Given the description of an element on the screen output the (x, y) to click on. 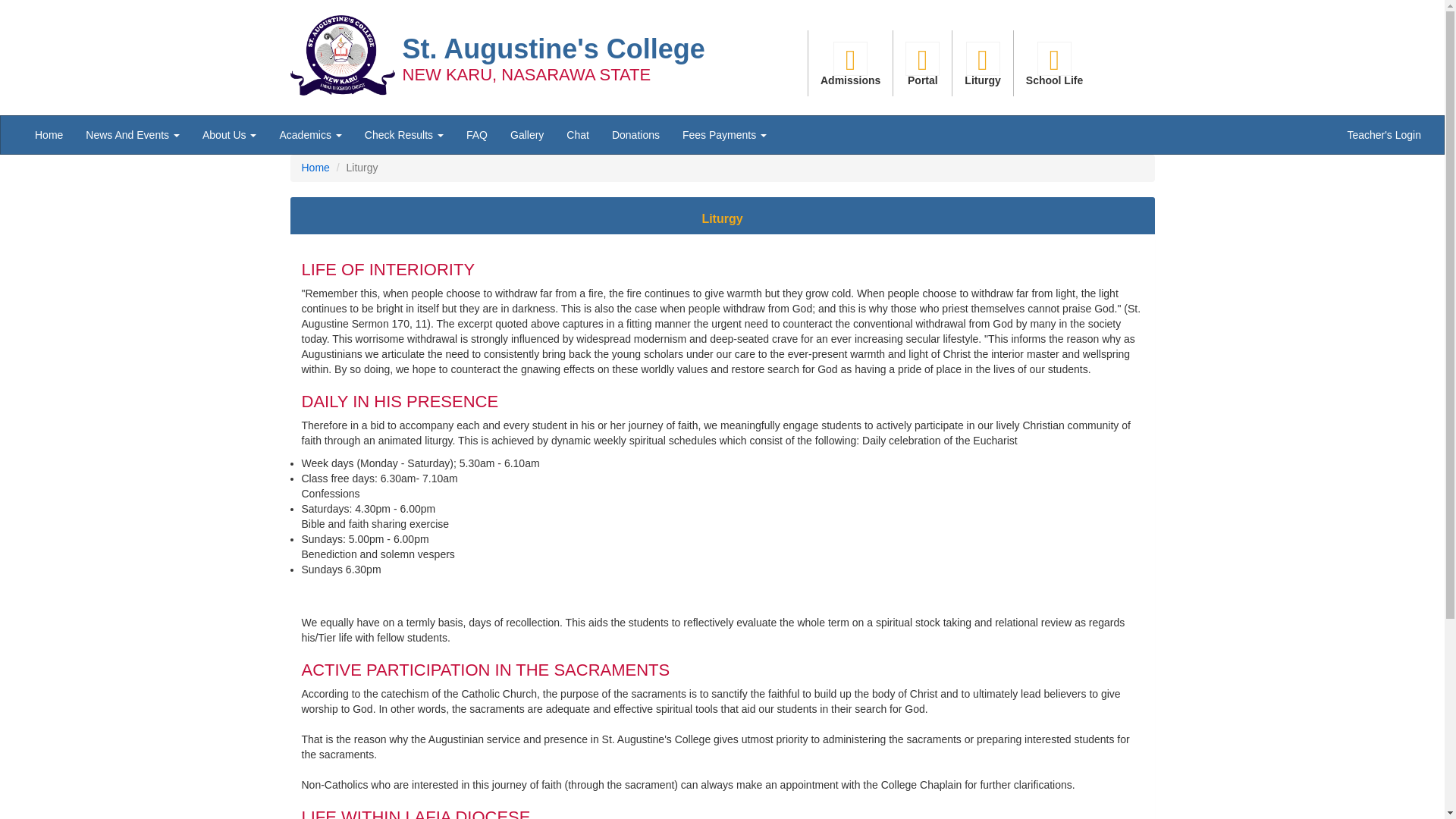
Teacher's Login (1383, 134)
Liturgy (981, 63)
Donations (635, 134)
Admissions (850, 63)
Check Results (403, 134)
About Us (228, 134)
Academics (309, 134)
FAQ (476, 134)
News And Events (132, 134)
Home (48, 134)
